Given the description of an element on the screen output the (x, y) to click on. 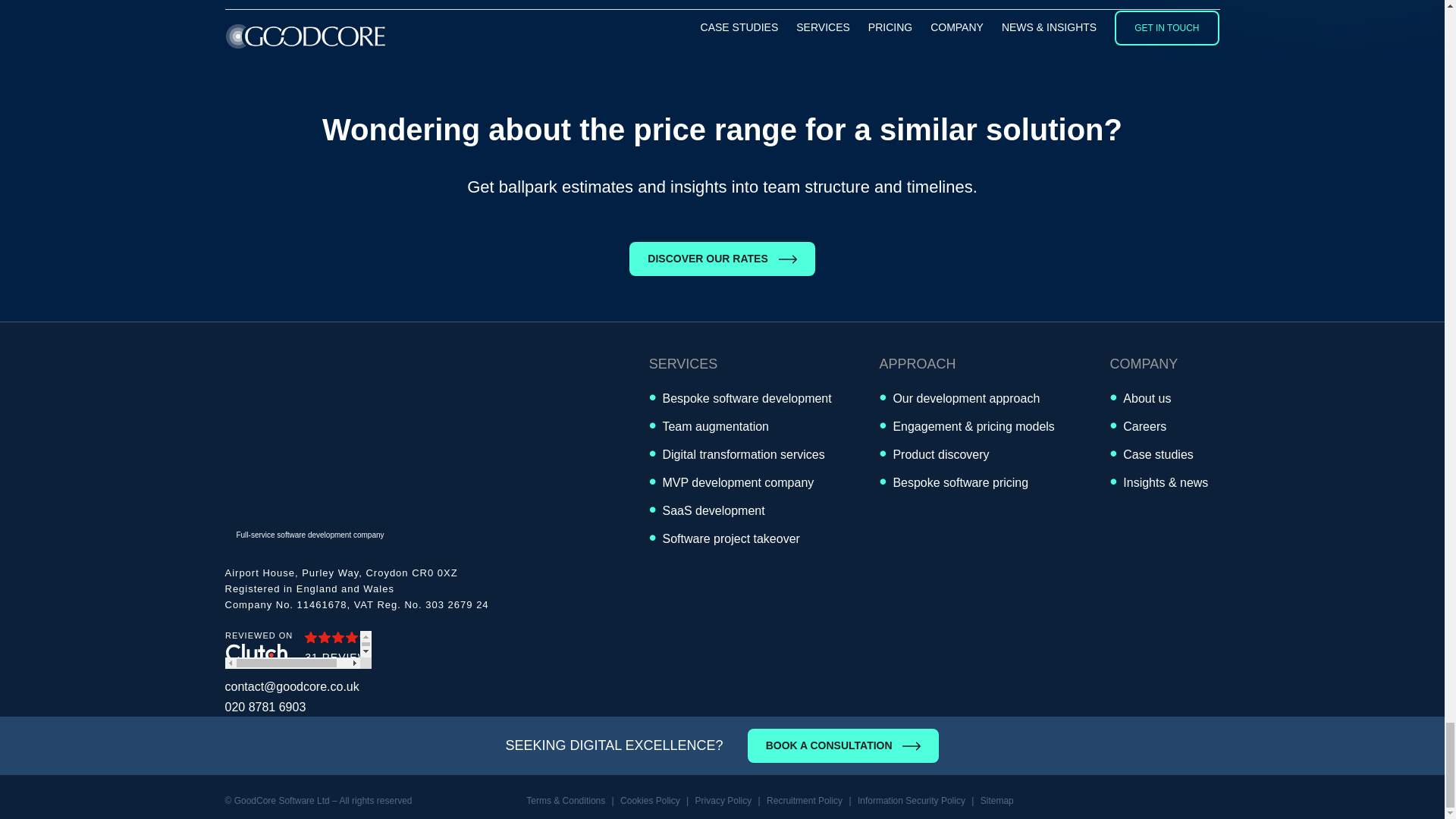
GoodCore Software Clutch Review Widget 2 Dark (297, 649)
DMCA.com Protection Status (1174, 799)
